Given the description of an element on the screen output the (x, y) to click on. 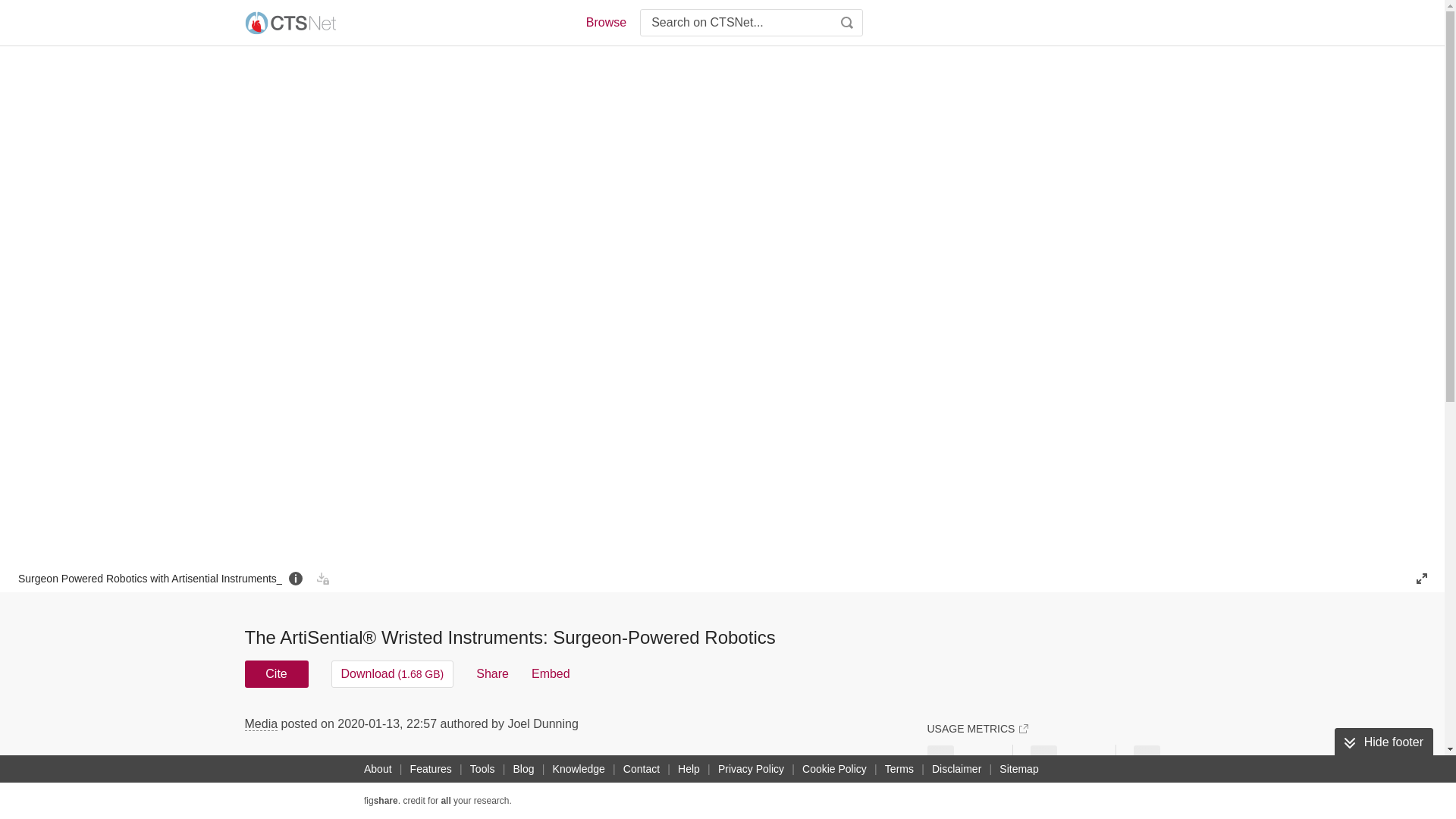
Hide footer (1383, 742)
Cite (275, 673)
USAGE METRICS (976, 728)
Terms (899, 769)
Privacy Policy (751, 769)
Help (688, 769)
Browse (605, 22)
Knowledge (579, 769)
Embed (550, 673)
Share (492, 673)
Features (431, 769)
About (377, 769)
Blog (523, 769)
Cookie Policy (833, 769)
Contact (640, 769)
